Given the description of an element on the screen output the (x, y) to click on. 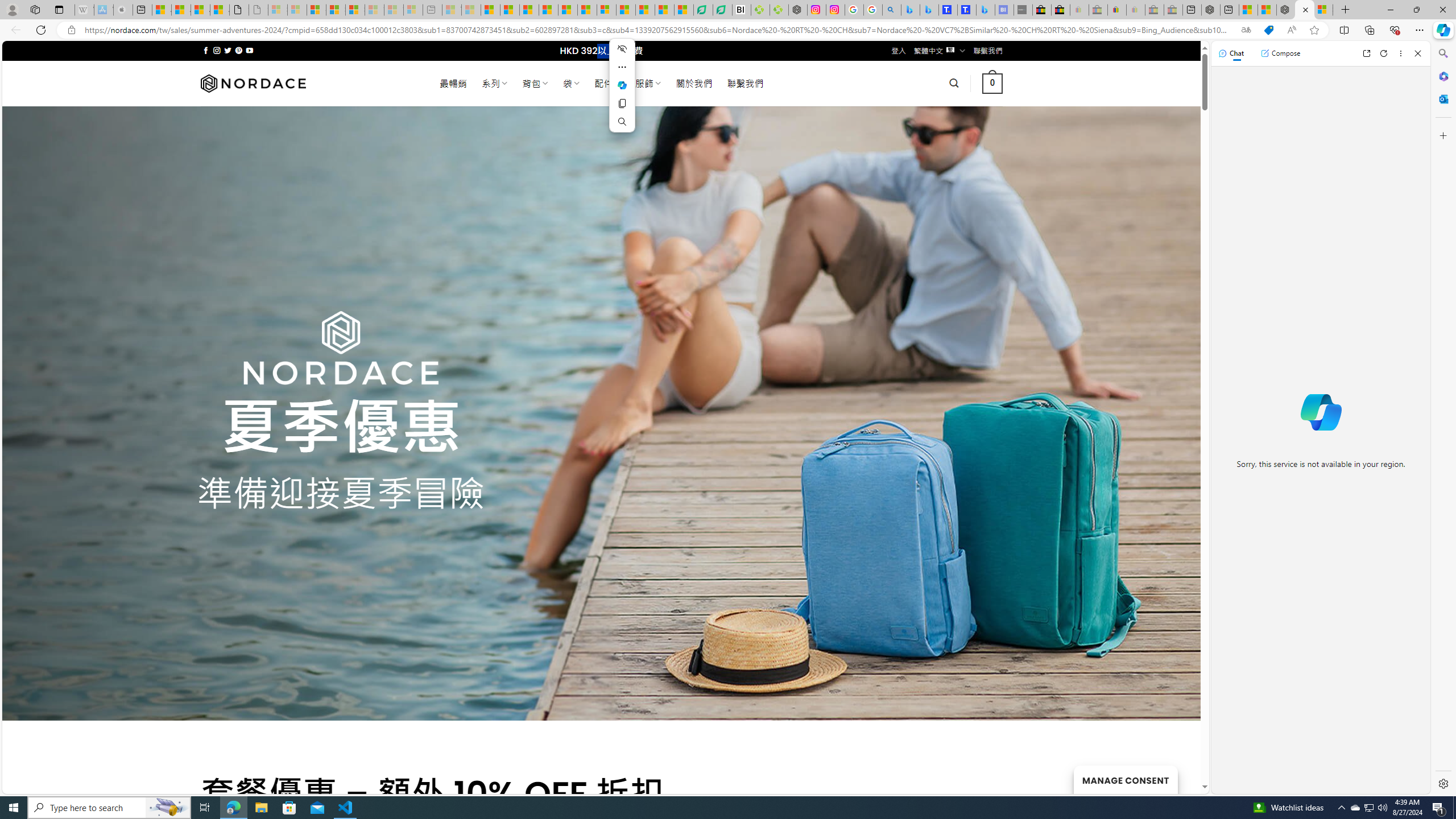
Marine life - MSN - Sleeping (471, 9)
Descarga Driver Updater (778, 9)
Follow on Twitter (227, 50)
Mini menu on text selection (621, 91)
Compose (1280, 52)
